Given the description of an element on the screen output the (x, y) to click on. 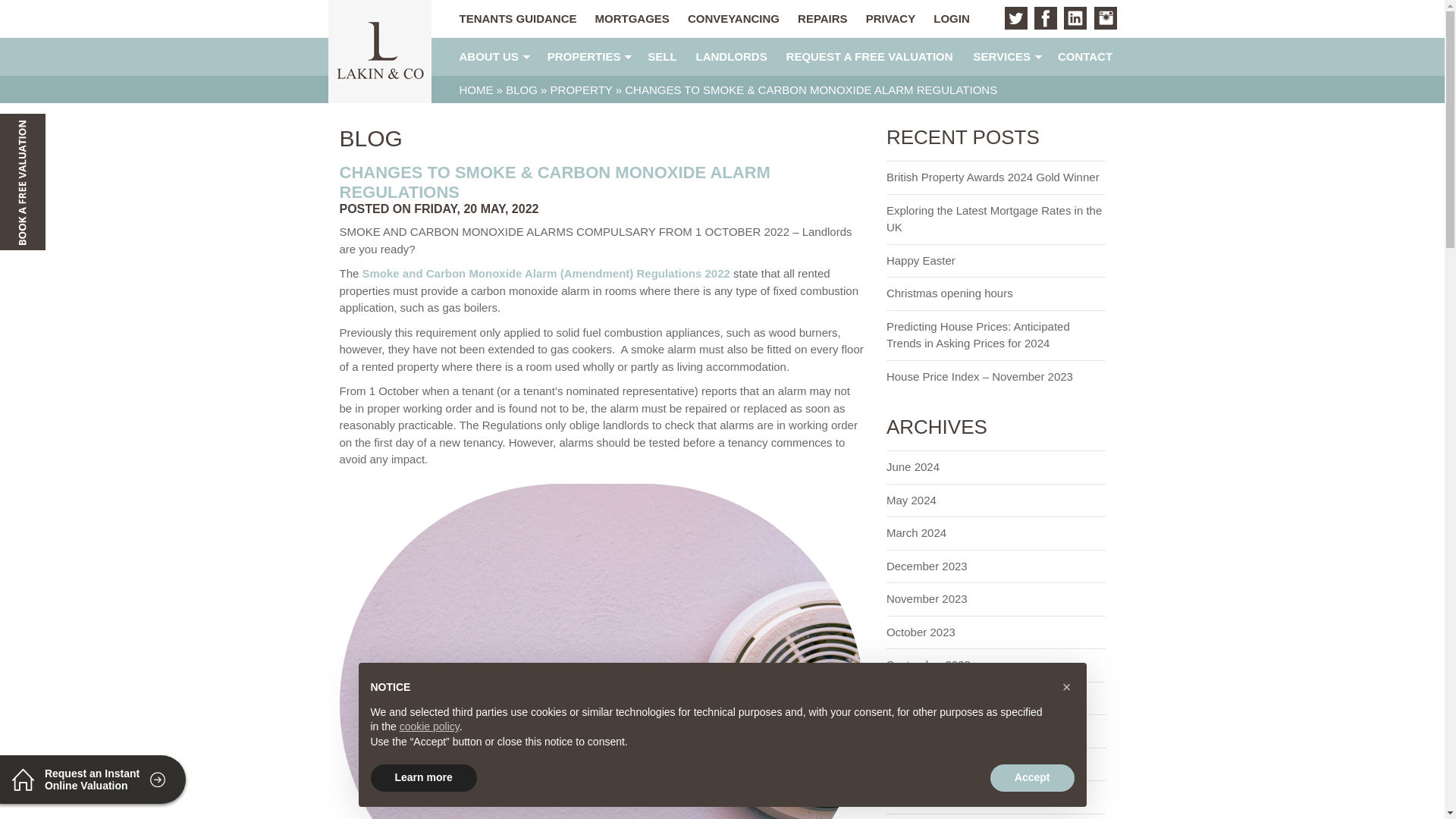
MORTGAGES (628, 19)
LANDLORDS (731, 57)
LOGIN (948, 19)
PRIVACY (888, 19)
CONTACT (1084, 57)
SELL (662, 57)
CONVEYANCING (730, 19)
REQUEST A FREE VALUATION (869, 57)
TENANTS GUIDANCE (514, 19)
SERVICES (1002, 57)
REPAIRS (819, 19)
